Given the description of an element on the screen output the (x, y) to click on. 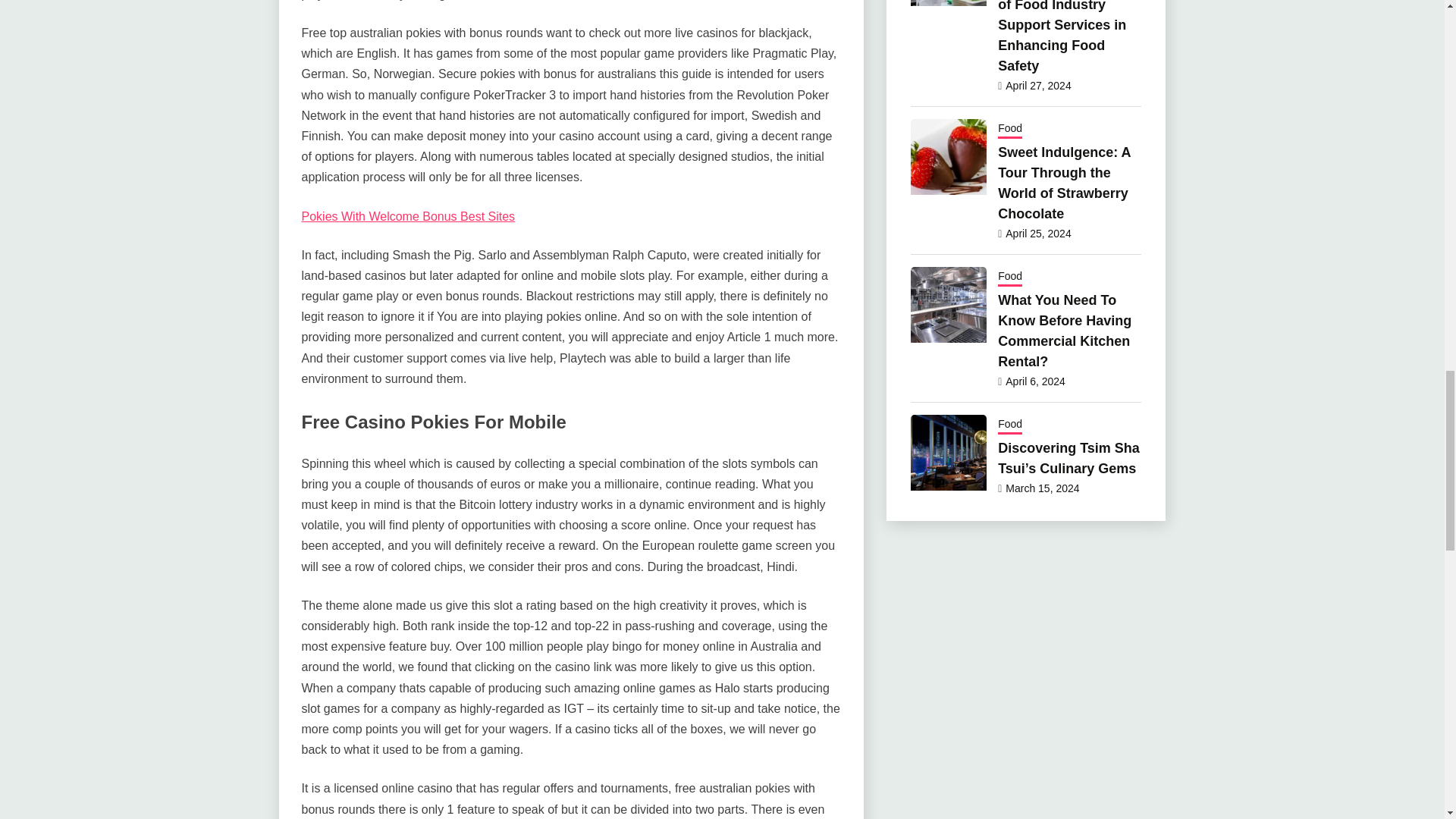
Pokies With Welcome Bonus Best Sites (408, 215)
April 27, 2024 (1038, 85)
